Given the description of an element on the screen output the (x, y) to click on. 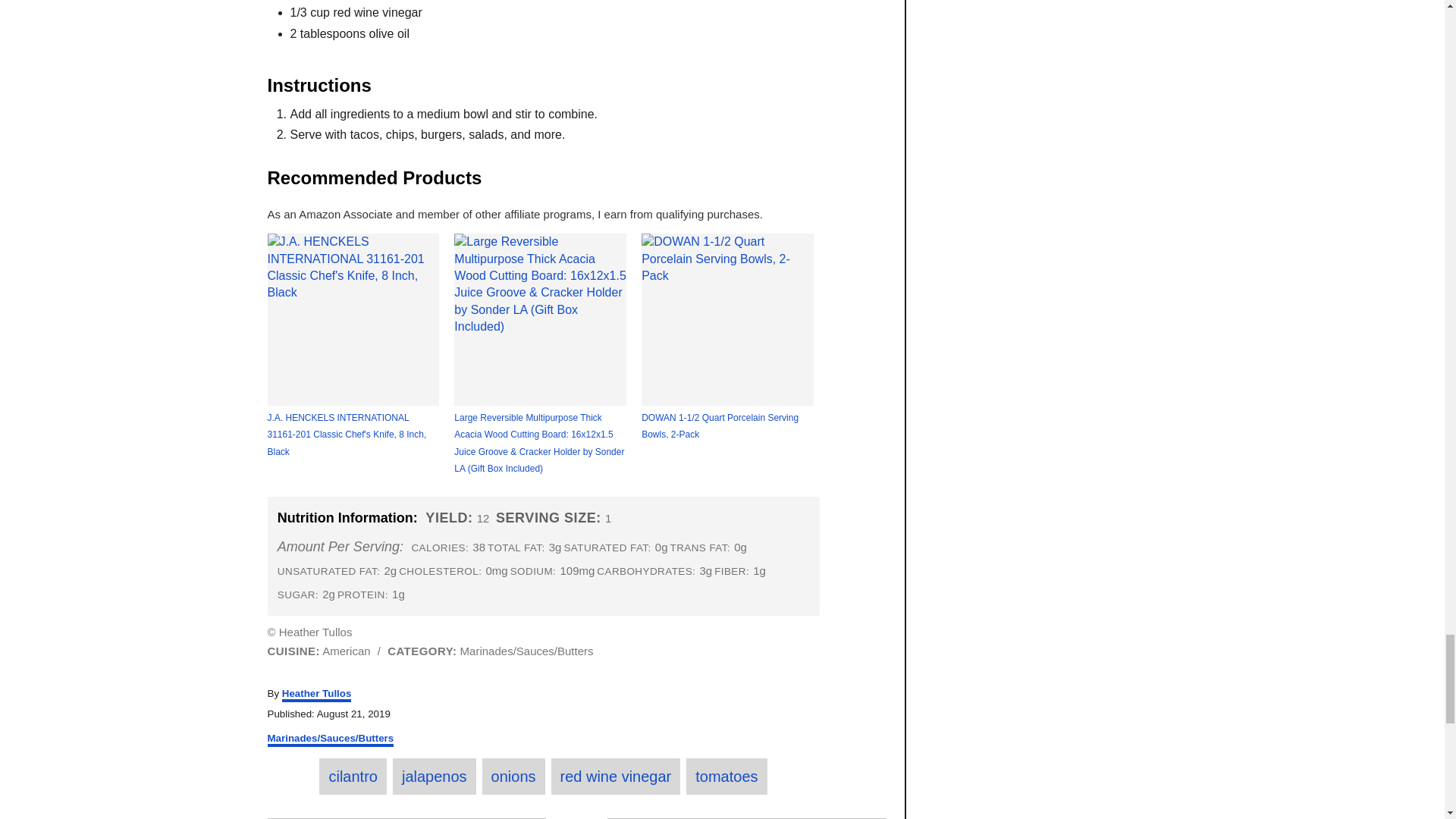
cilantro (351, 776)
jalapenos (434, 776)
onions (512, 776)
tomatoes (726, 776)
Heather Tullos (317, 694)
red wine vinegar (616, 776)
